Given the description of an element on the screen output the (x, y) to click on. 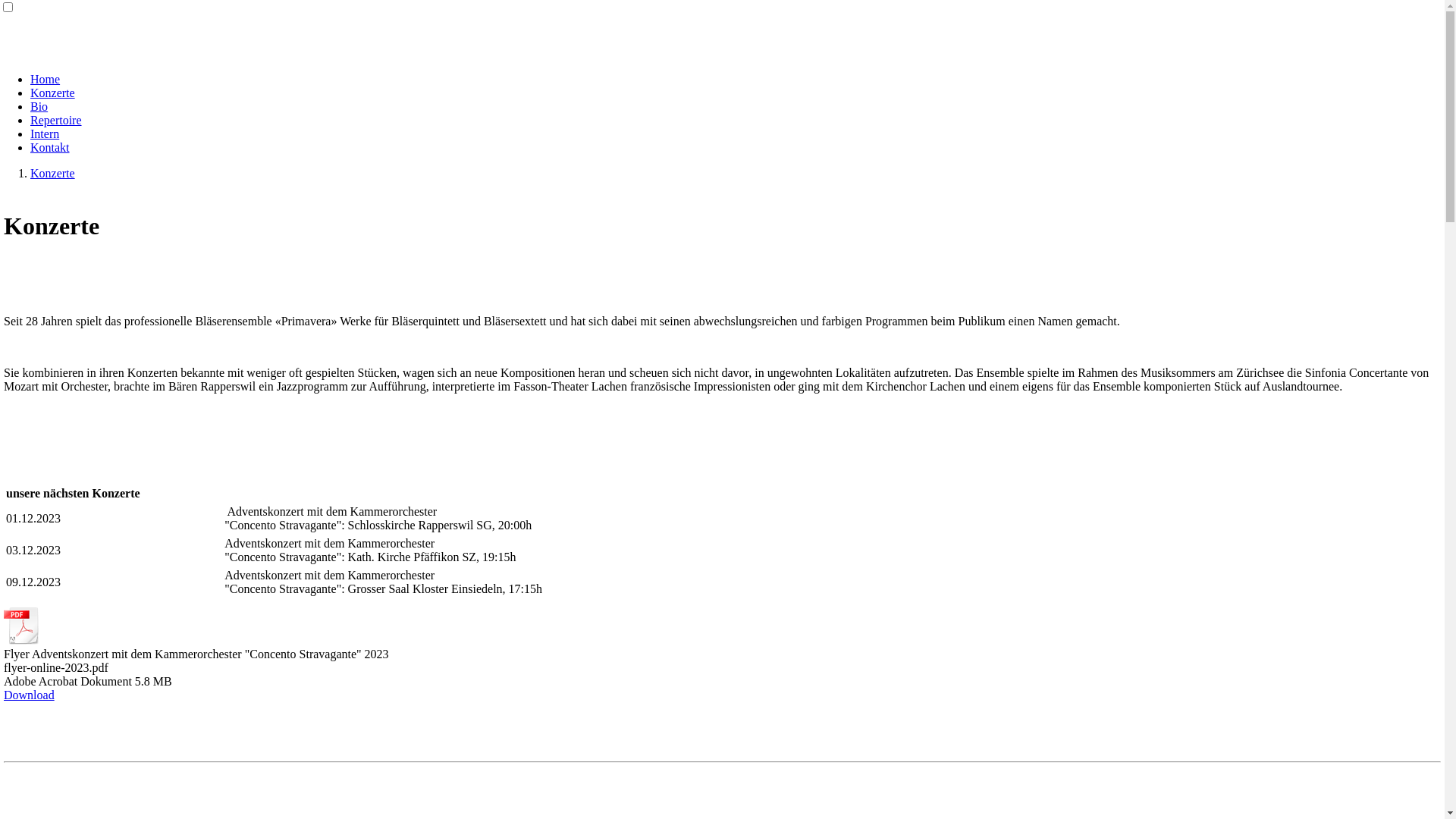
Repertoire Element type: text (55, 119)
Konzerte Element type: text (52, 92)
Bio Element type: text (38, 106)
Intern Element type: text (44, 133)
Home Element type: text (44, 78)
Download Element type: text (28, 694)
Konzerte Element type: text (52, 172)
Kontakt Element type: text (49, 147)
